Given the description of an element on the screen output the (x, y) to click on. 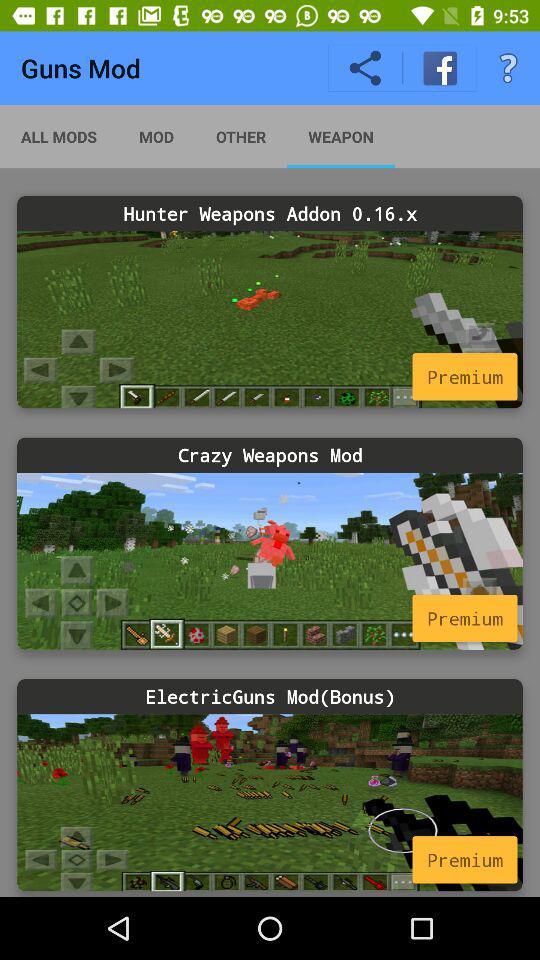
jump until electricguns mod(bonus) item (269, 696)
